Given the description of an element on the screen output the (x, y) to click on. 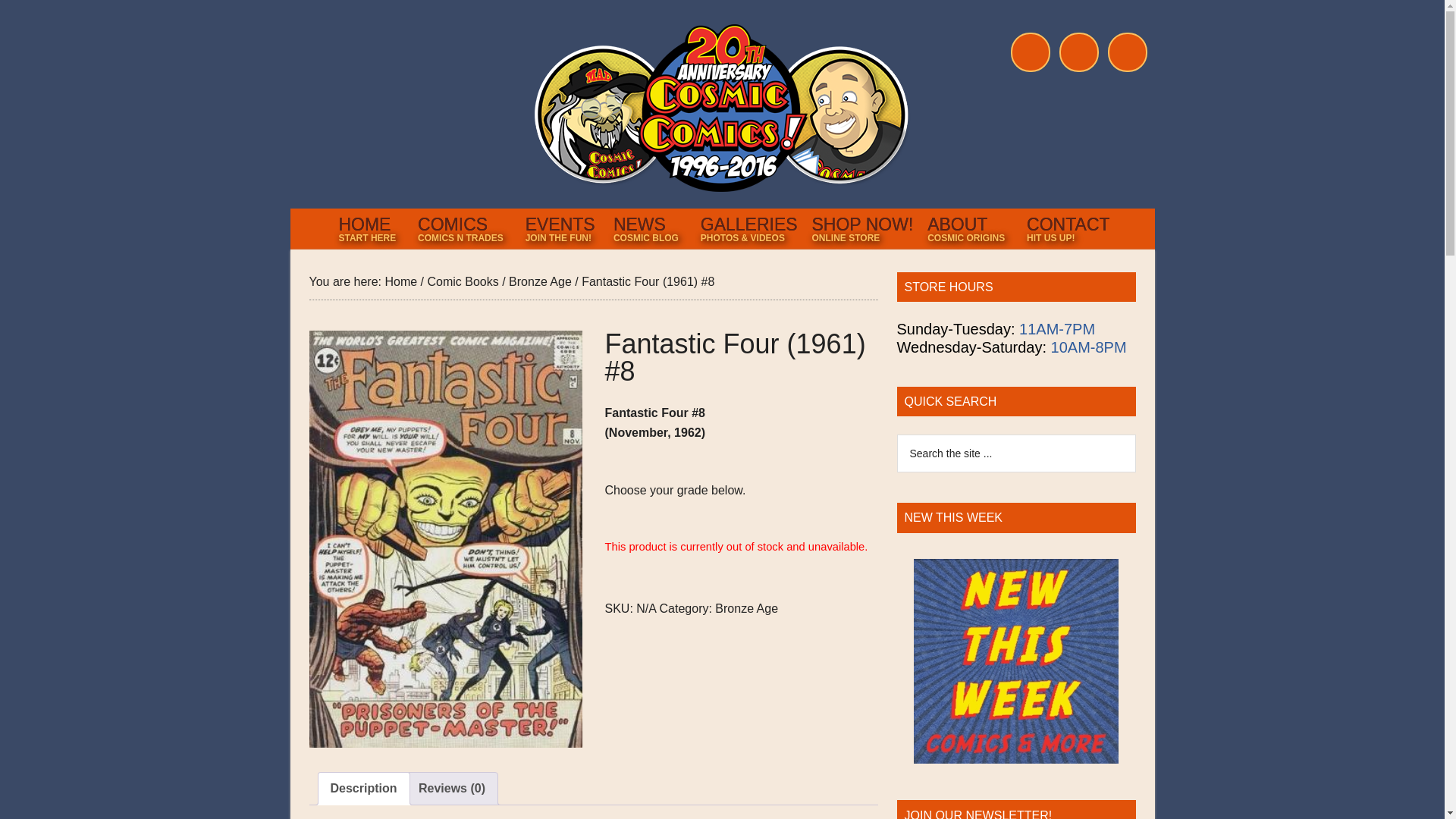
Bronze Age (1066, 227)
Description (968, 227)
Comic Books (462, 227)
Search (368, 227)
Cosmic Comics! (745, 608)
Home (363, 788)
Bronze Age (461, 281)
